Given the description of an element on the screen output the (x, y) to click on. 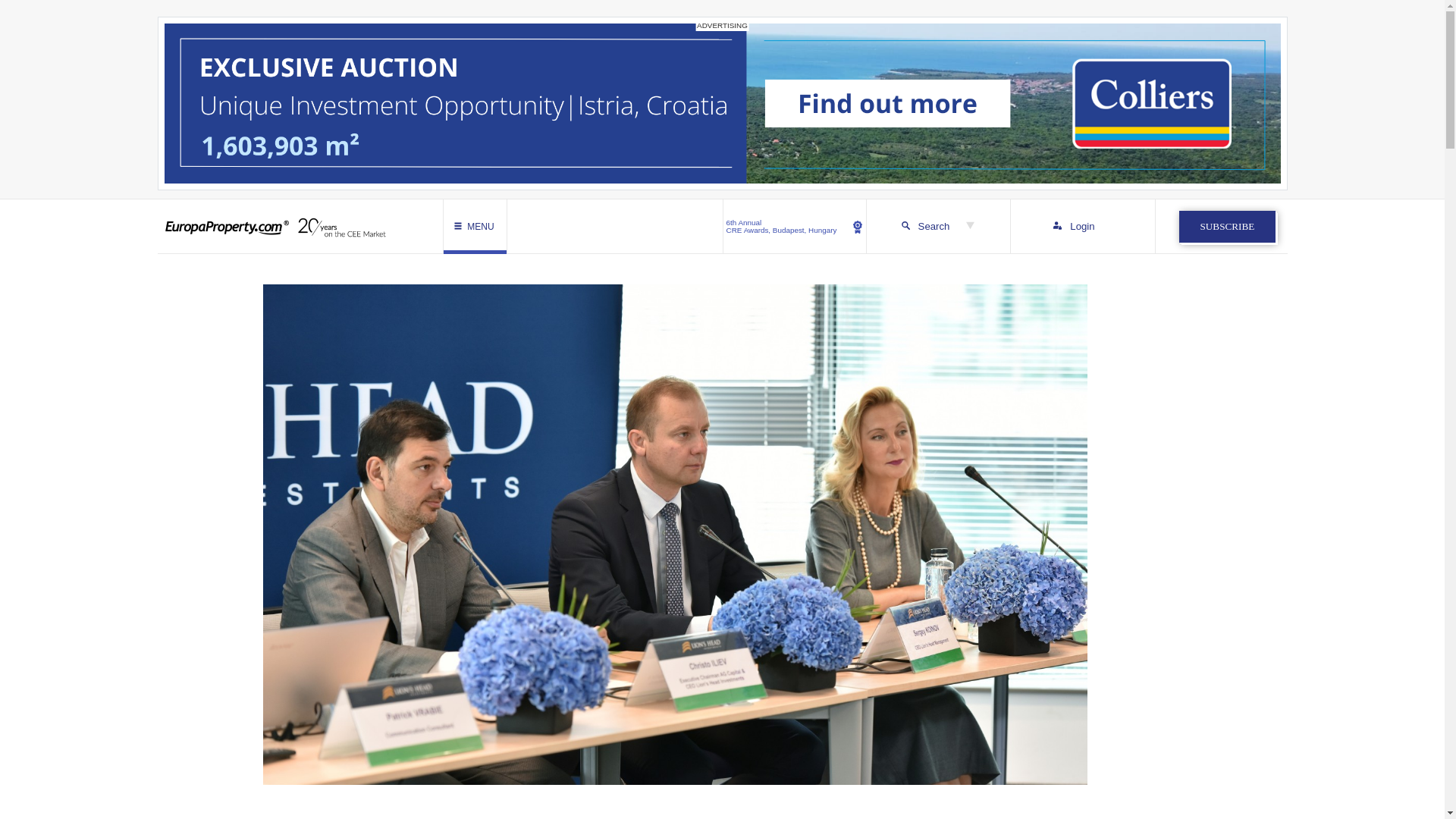
SUBSCRIBE (794, 226)
Login (1227, 226)
